Given the description of an element on the screen output the (x, y) to click on. 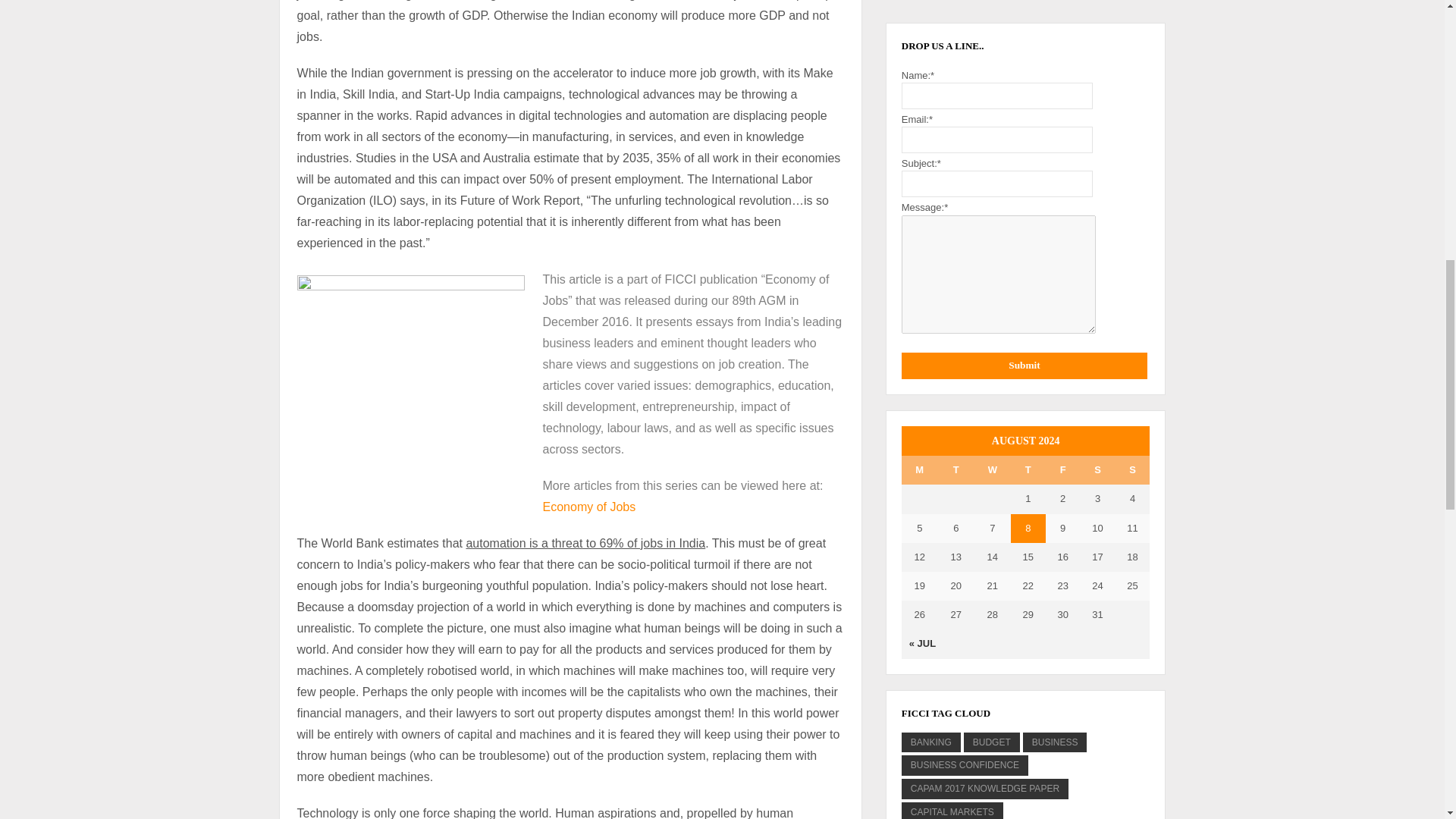
Friday (1062, 469)
Tuesday (955, 469)
Wednesday (992, 469)
Submit (1024, 365)
Economy of Jobs (589, 506)
Thursday (1027, 469)
Saturday (1097, 469)
Monday (919, 469)
